Given the description of an element on the screen output the (x, y) to click on. 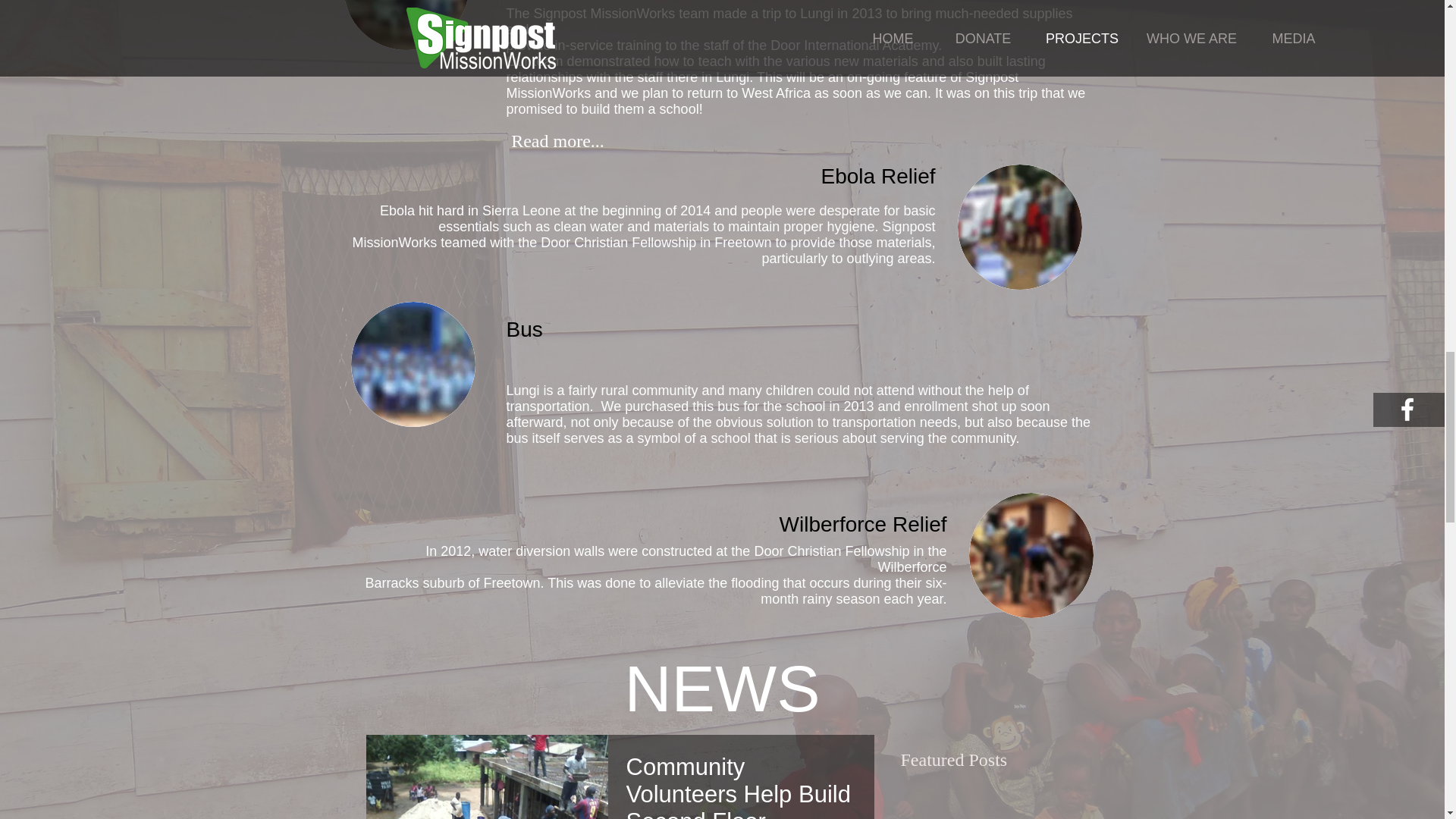
Community Volunteers Help Build Second Floor (741, 785)
Wilberforce pic.jpg (1031, 555)
Group with supplies 1.jpg (1018, 226)
Jean teaching.jpg (404, 24)
Read more... (558, 141)
